Given the description of an element on the screen output the (x, y) to click on. 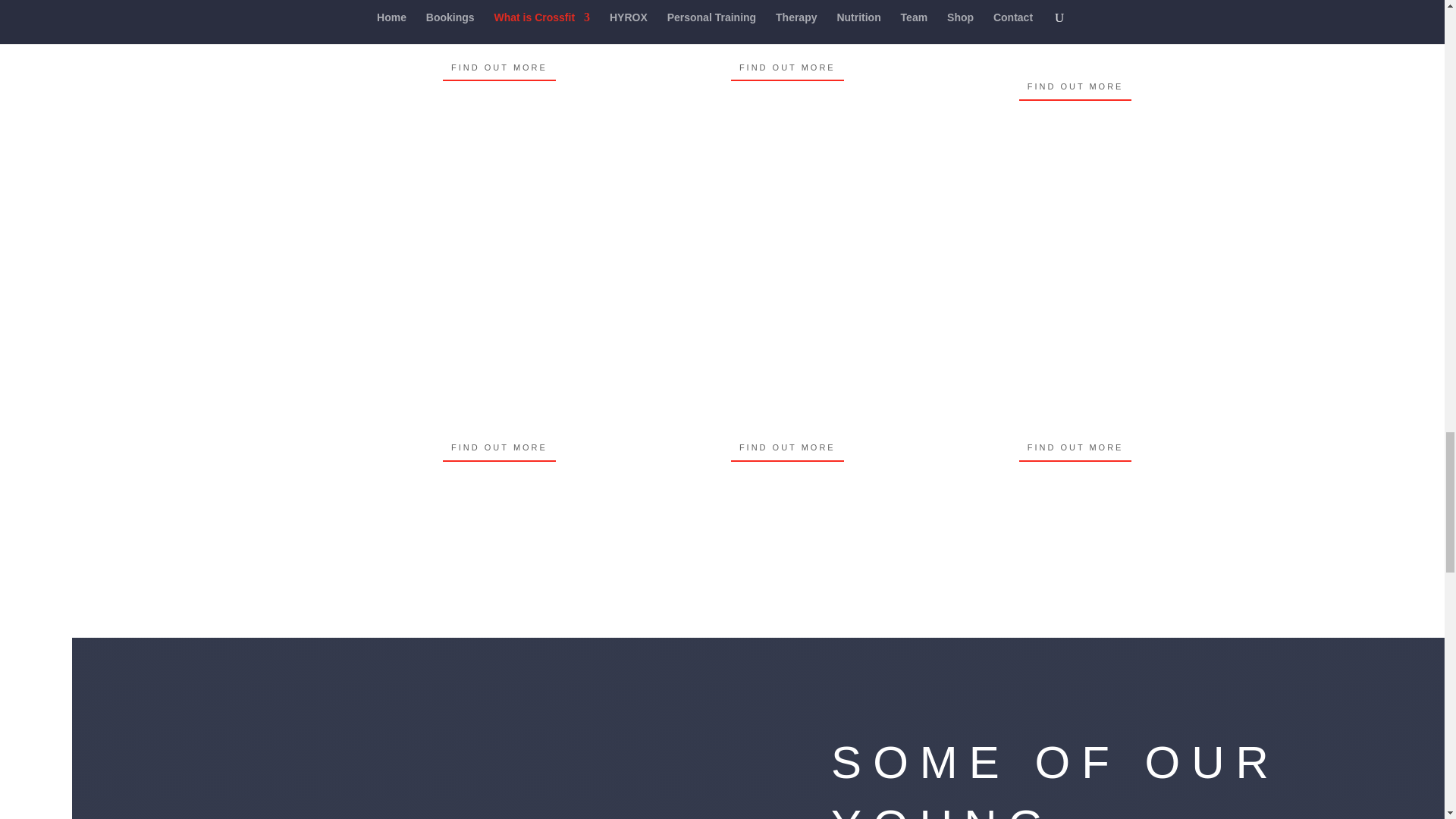
FIND OUT MORE (499, 447)
FIND OUT MORE (1075, 447)
FIND OUT MORE (499, 67)
FIND OUT MORE (1075, 86)
FIND OUT MORE (787, 67)
FIND OUT MORE (787, 447)
